Given the description of an element on the screen output the (x, y) to click on. 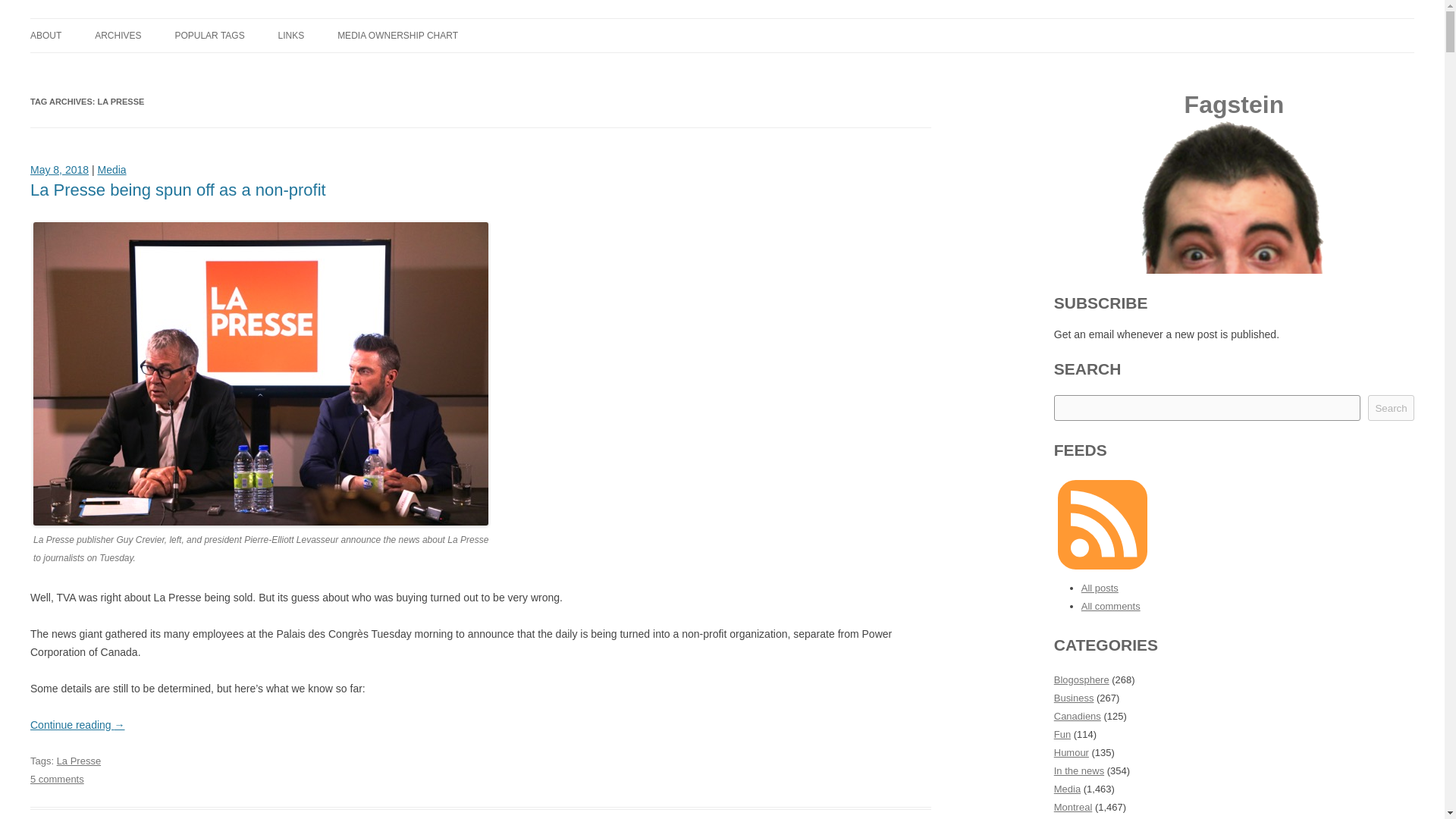
Fagstein (71, 36)
May 8, 2018 (59, 169)
ABOUT (45, 35)
ARCHIVES (117, 35)
La Presse (78, 760)
Media (111, 169)
La Presse being spun off as a non-profit (178, 189)
POPULAR TAGS (209, 35)
1:21 pm (59, 169)
MEDIA OWNERSHIP CHART (397, 35)
5 comments (57, 778)
